Given the description of an element on the screen output the (x, y) to click on. 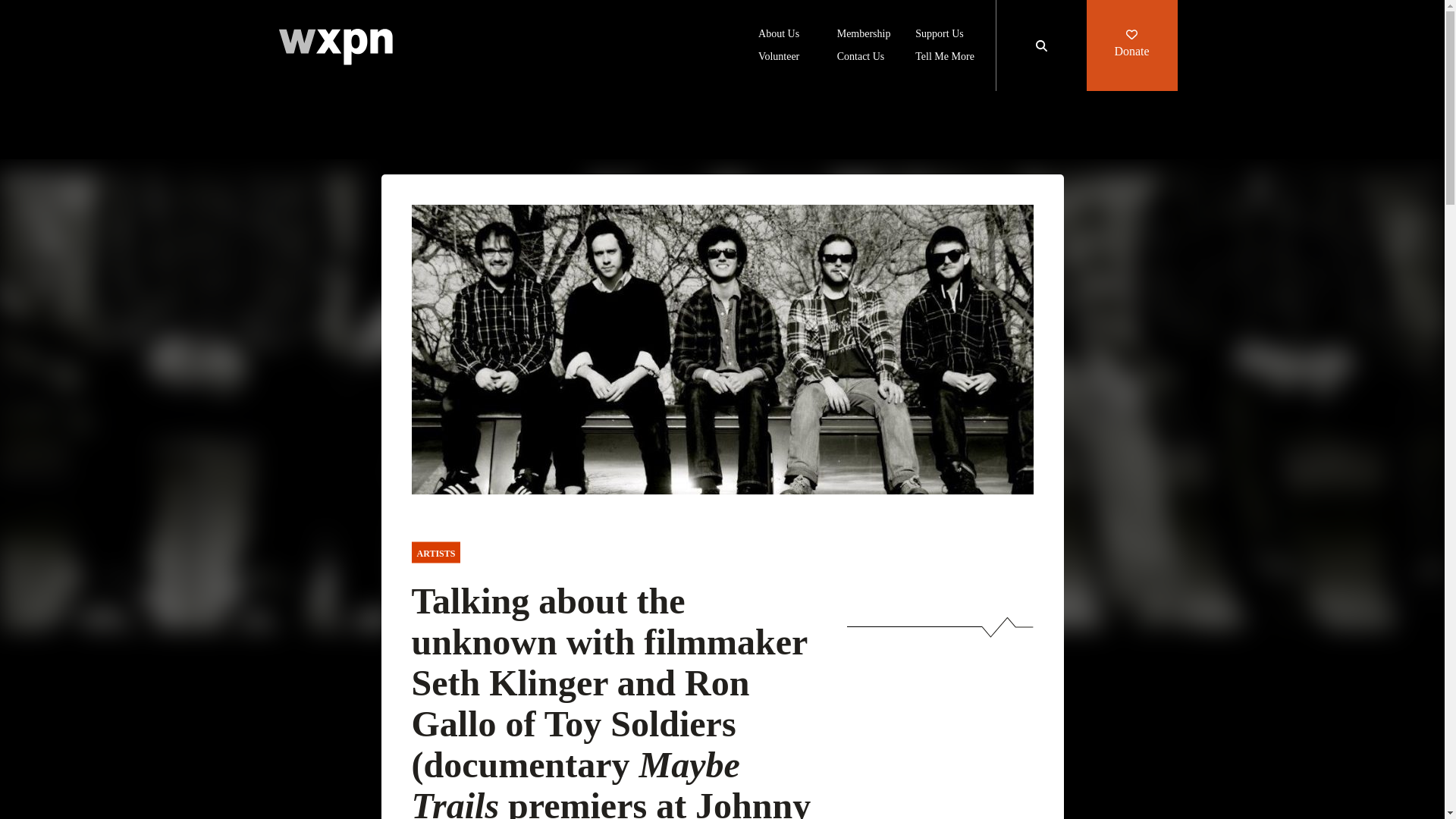
Donate (1131, 45)
Volunteer (778, 57)
Contact Us (861, 57)
Membership (864, 35)
Support Us (938, 35)
Tell Me More (944, 57)
About Us (778, 35)
